Given the description of an element on the screen output the (x, y) to click on. 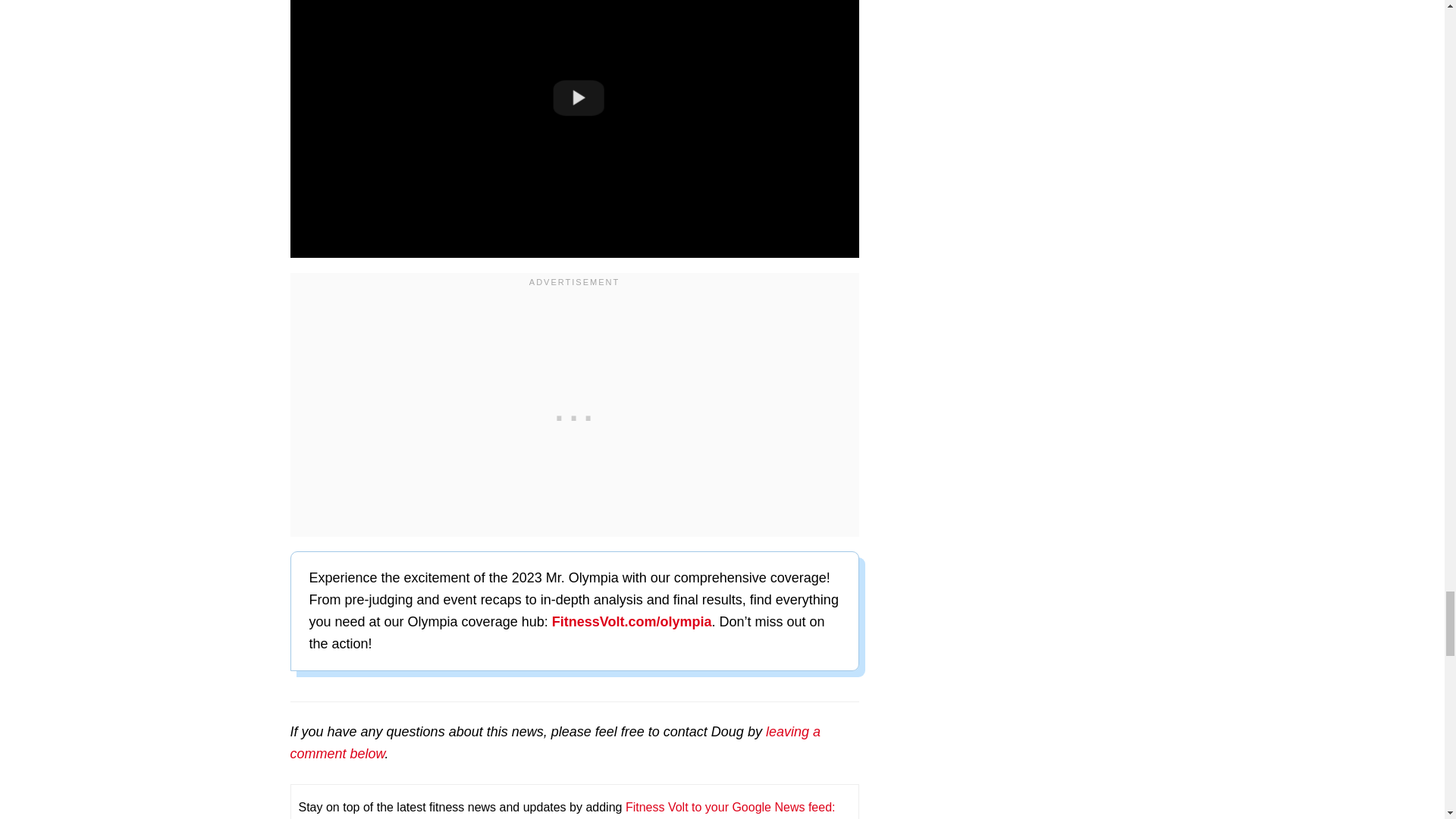
2023 Mr. Olympia Updates (631, 621)
